Given the description of an element on the screen output the (x, y) to click on. 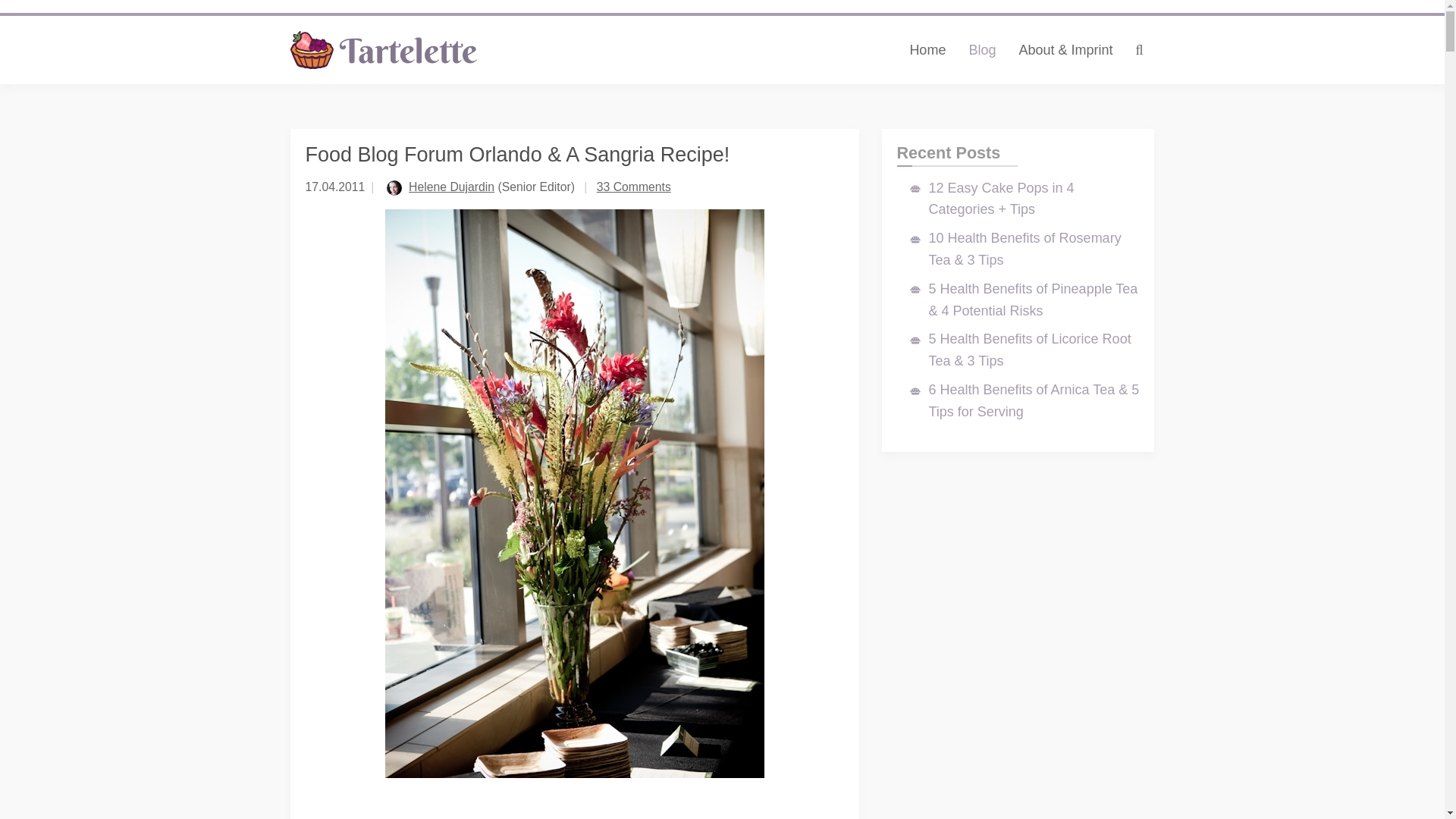
Helene Dujardin (452, 186)
Tartelette (383, 49)
33 Comments (633, 186)
Home (927, 49)
Blog (981, 49)
